Given the description of an element on the screen output the (x, y) to click on. 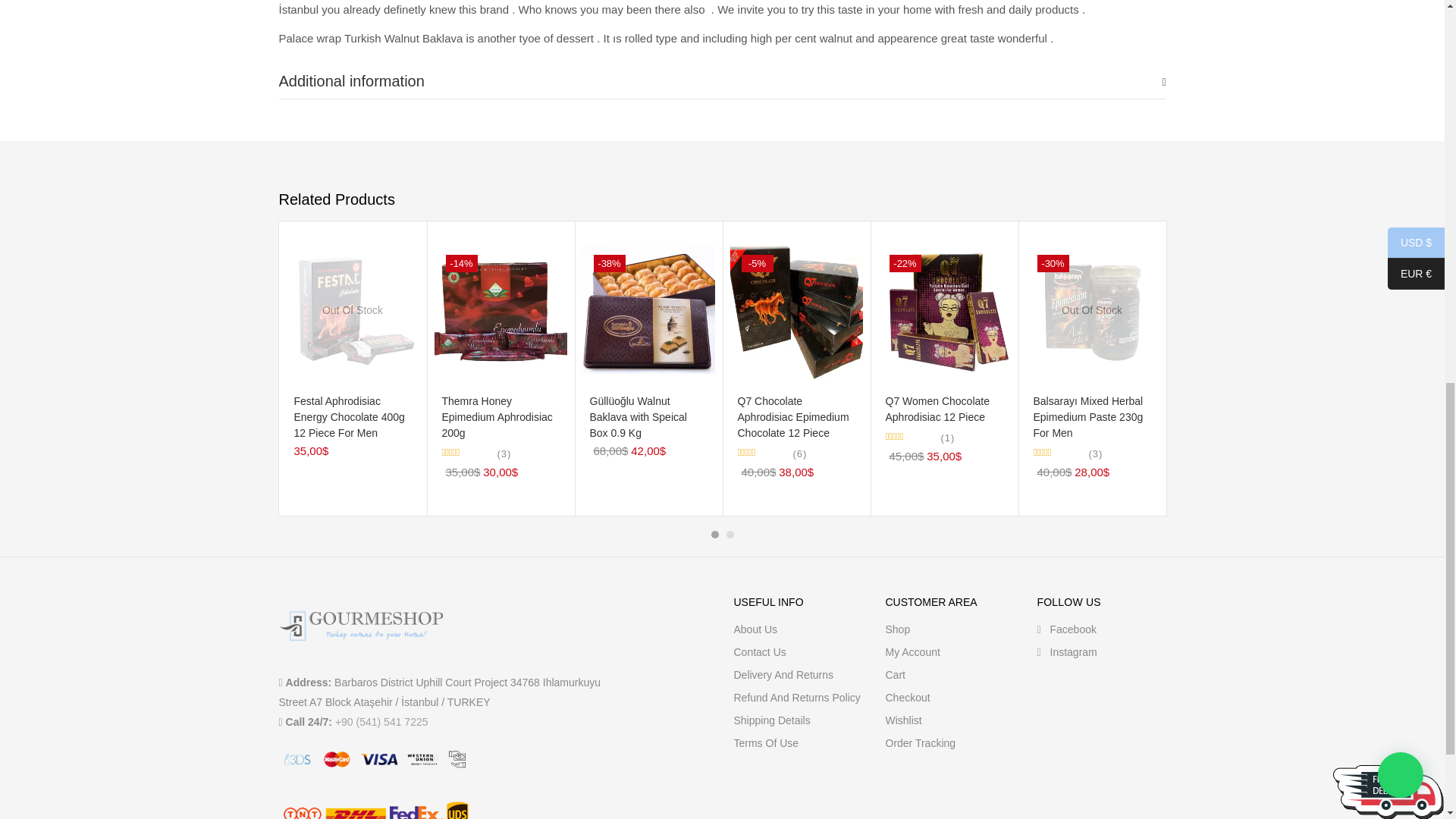
Themra Honey Epimedium Aphrodisiac 200g (499, 309)
Festal Aphrodisiac Energy Chocolate 400g 12 Piece For Men (352, 309)
